Given the description of an element on the screen output the (x, y) to click on. 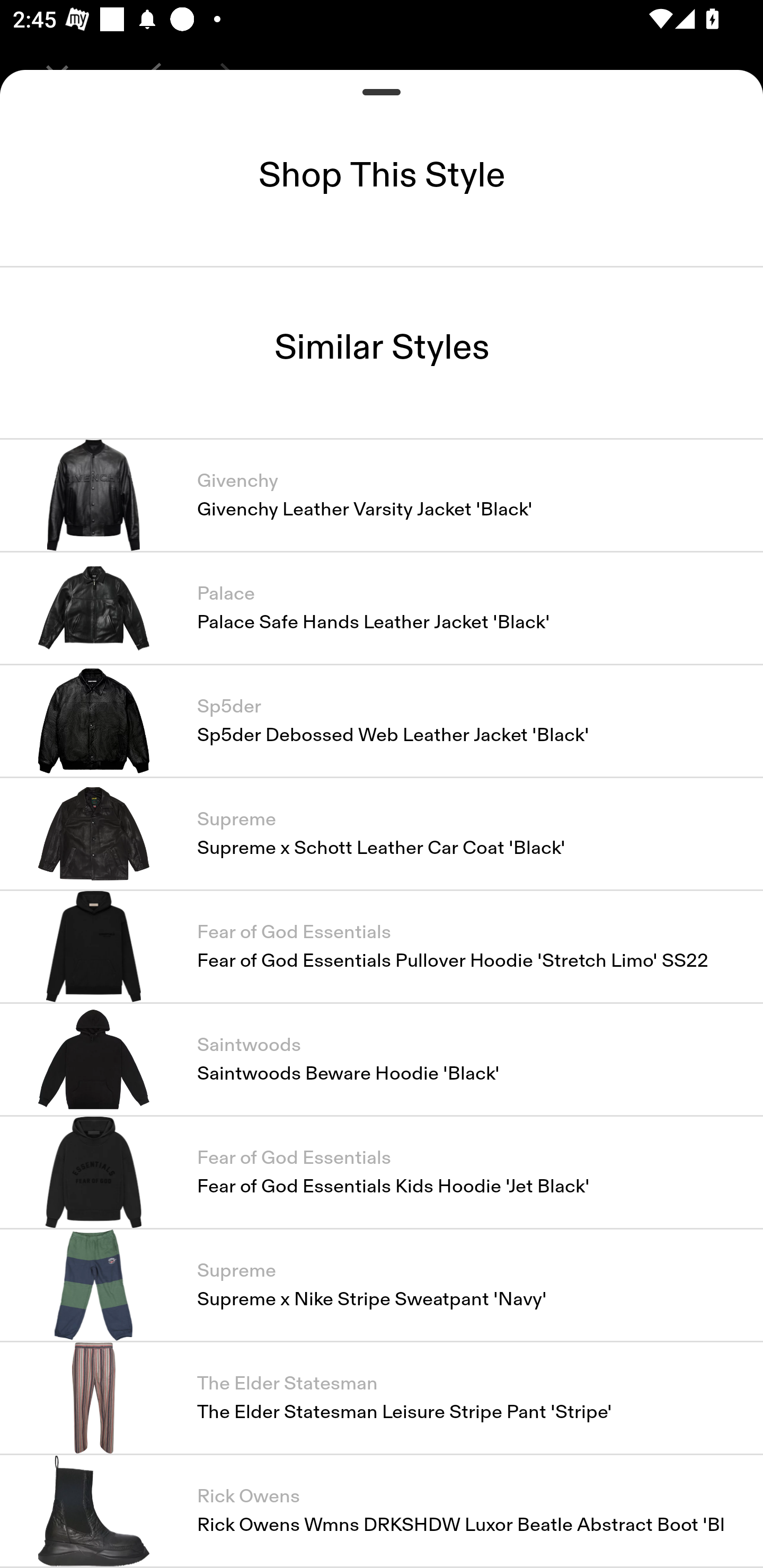
Givenchy Givenchy Leather Varsity Jacket 'Black' (381, 494)
Palace Palace Safe Hands Leather Jacket 'Black' (381, 607)
Sp5der Sp5der Debossed Web Leather Jacket 'Black' (381, 720)
Supreme Supreme x Schott Leather Car Coat 'Black' (381, 833)
Saintwoods Saintwoods Beware Hoodie 'Black' (381, 1058)
Supreme Supreme x Nike Stripe Sweatpant 'Navy' (381, 1284)
